Given the description of an element on the screen output the (x, y) to click on. 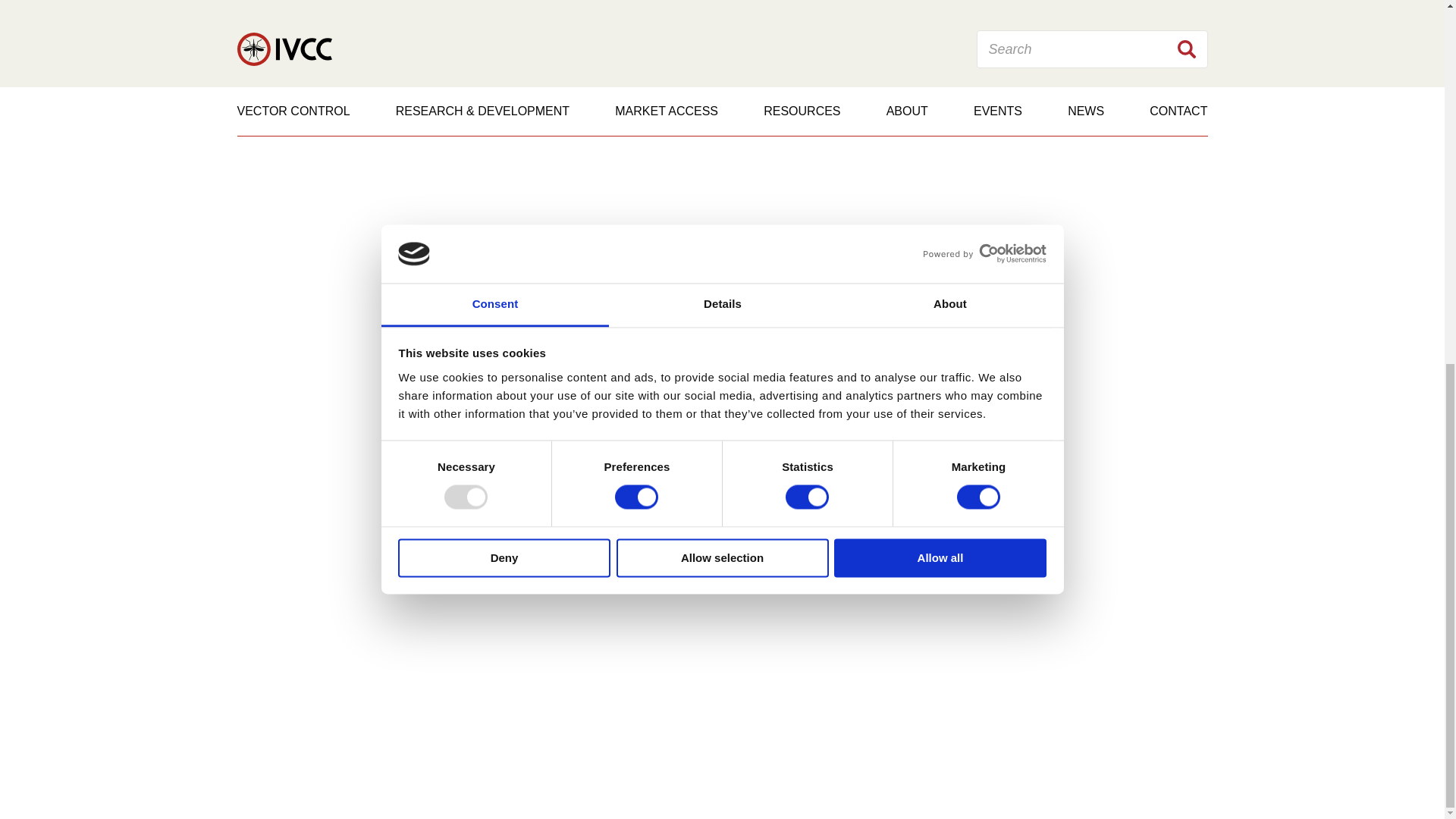
Subscribe (1009, 394)
